Given the description of an element on the screen output the (x, y) to click on. 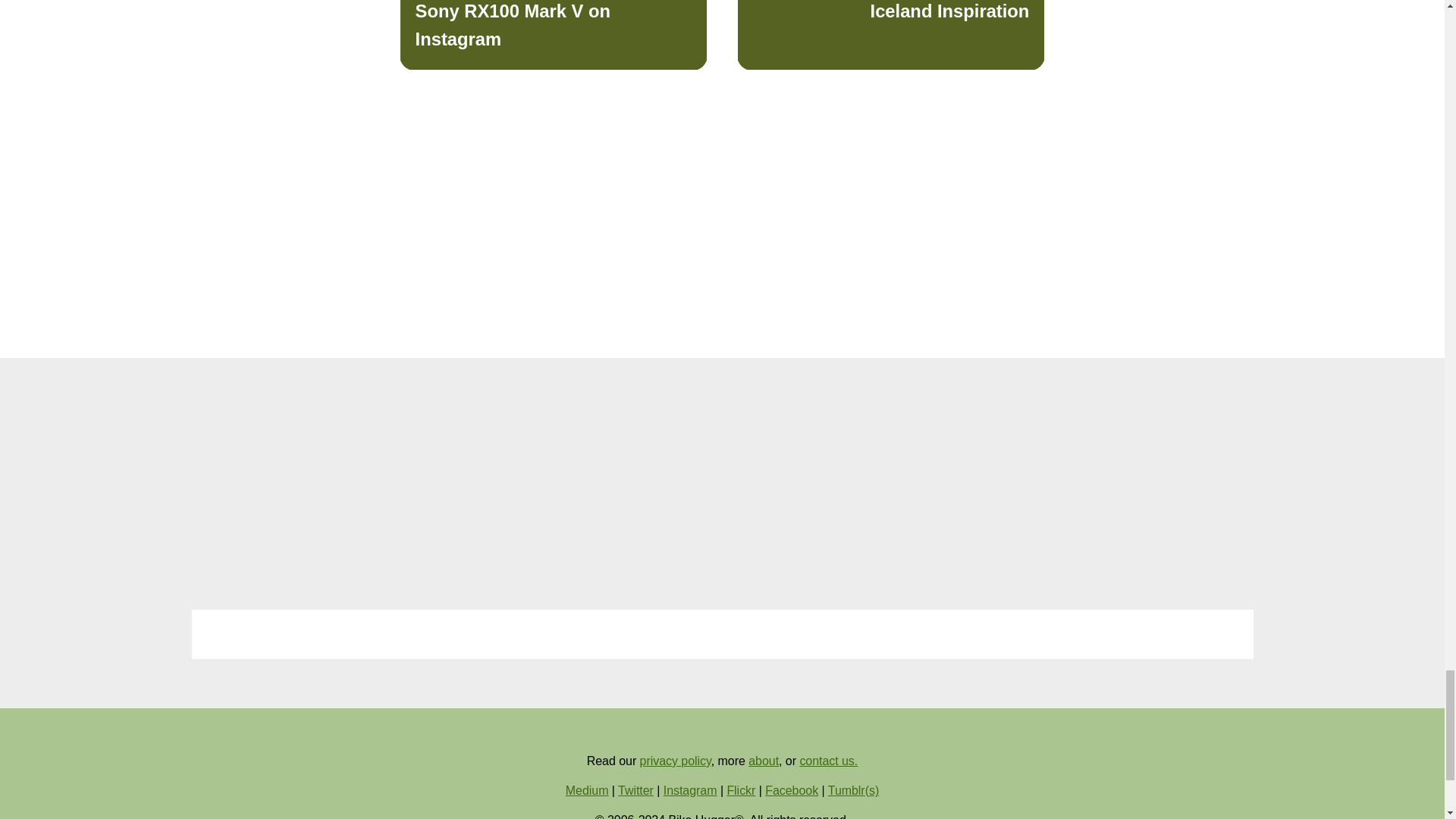
Twitter (635, 789)
Medium (587, 789)
privacy policy (675, 760)
about (552, 35)
Facebook (763, 760)
contact us. (791, 789)
Flickr (828, 760)
Instagram (890, 35)
